Given the description of an element on the screen output the (x, y) to click on. 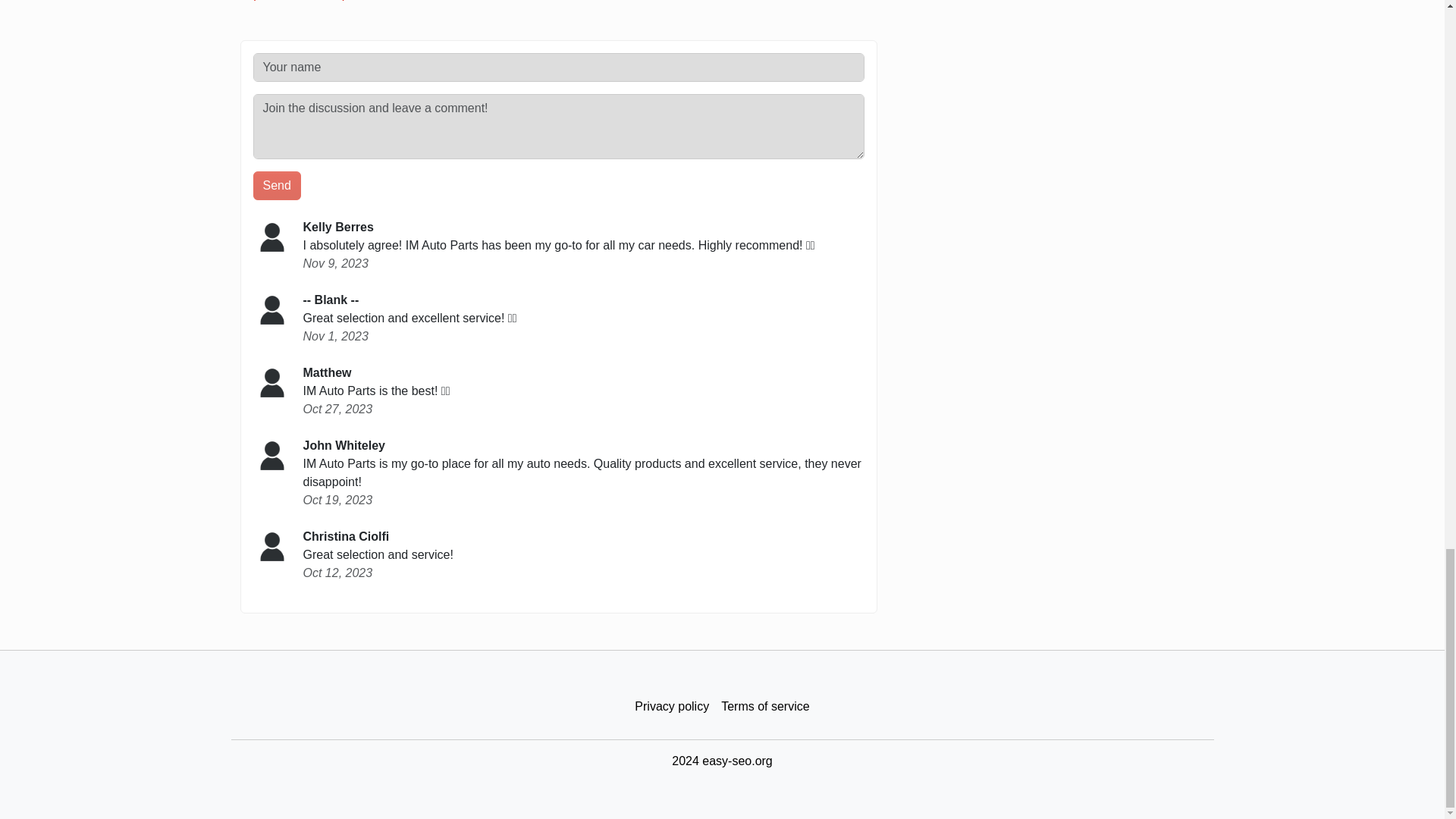
Terms of service (764, 707)
Send (277, 185)
Privacy policy (671, 707)
Send (277, 185)
